Given the description of an element on the screen output the (x, y) to click on. 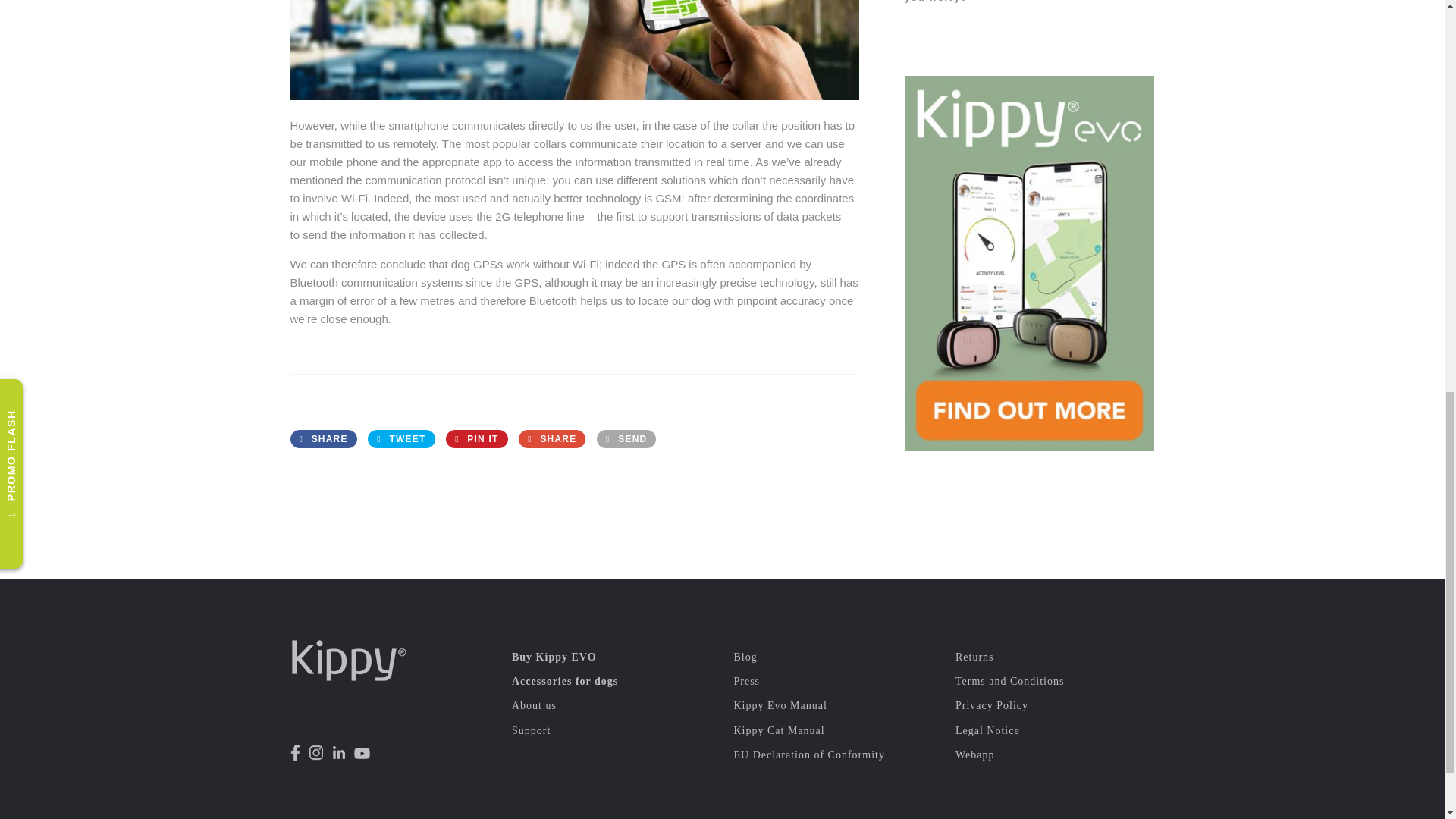
Pinterest (475, 438)
Buy Kippy EVO (554, 656)
Facebook (322, 438)
SEND (626, 438)
Support (531, 730)
SHARE (551, 438)
PIN IT (475, 438)
Email (626, 438)
SHARE (322, 438)
TWEET (400, 438)
